Given the description of an element on the screen output the (x, y) to click on. 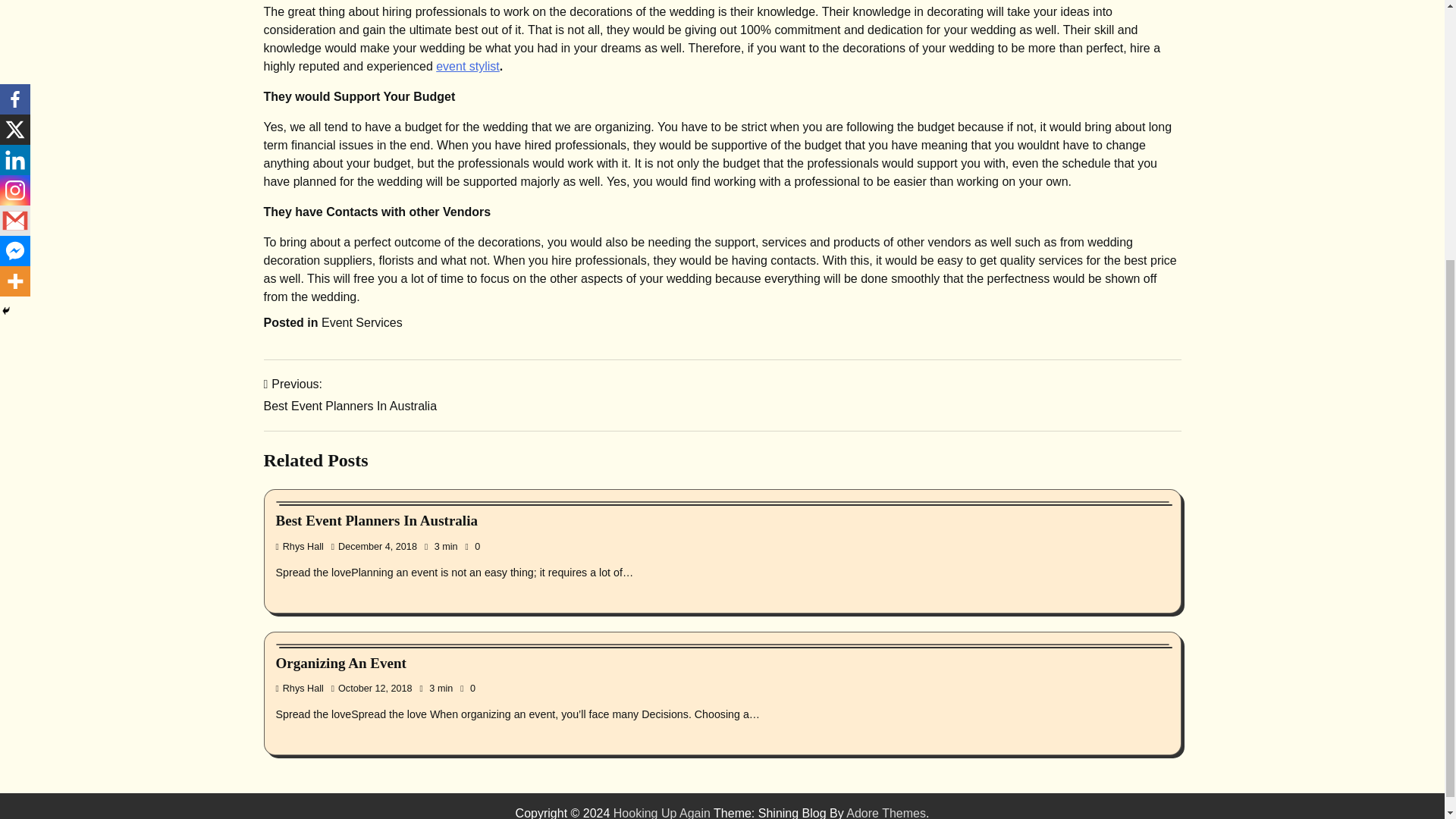
Organizing An Event (341, 662)
event stylist (467, 65)
Rhys Hall (299, 546)
Best Event Planners In Australia (350, 395)
Event Services (376, 520)
Rhys Hall (362, 322)
